Given the description of an element on the screen output the (x, y) to click on. 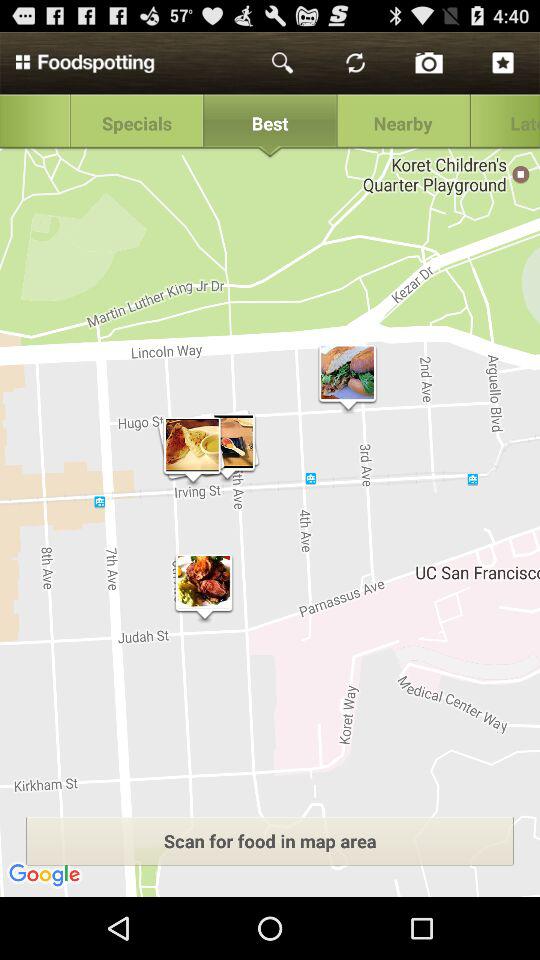
press the icon at the center (270, 521)
